Given the description of an element on the screen output the (x, y) to click on. 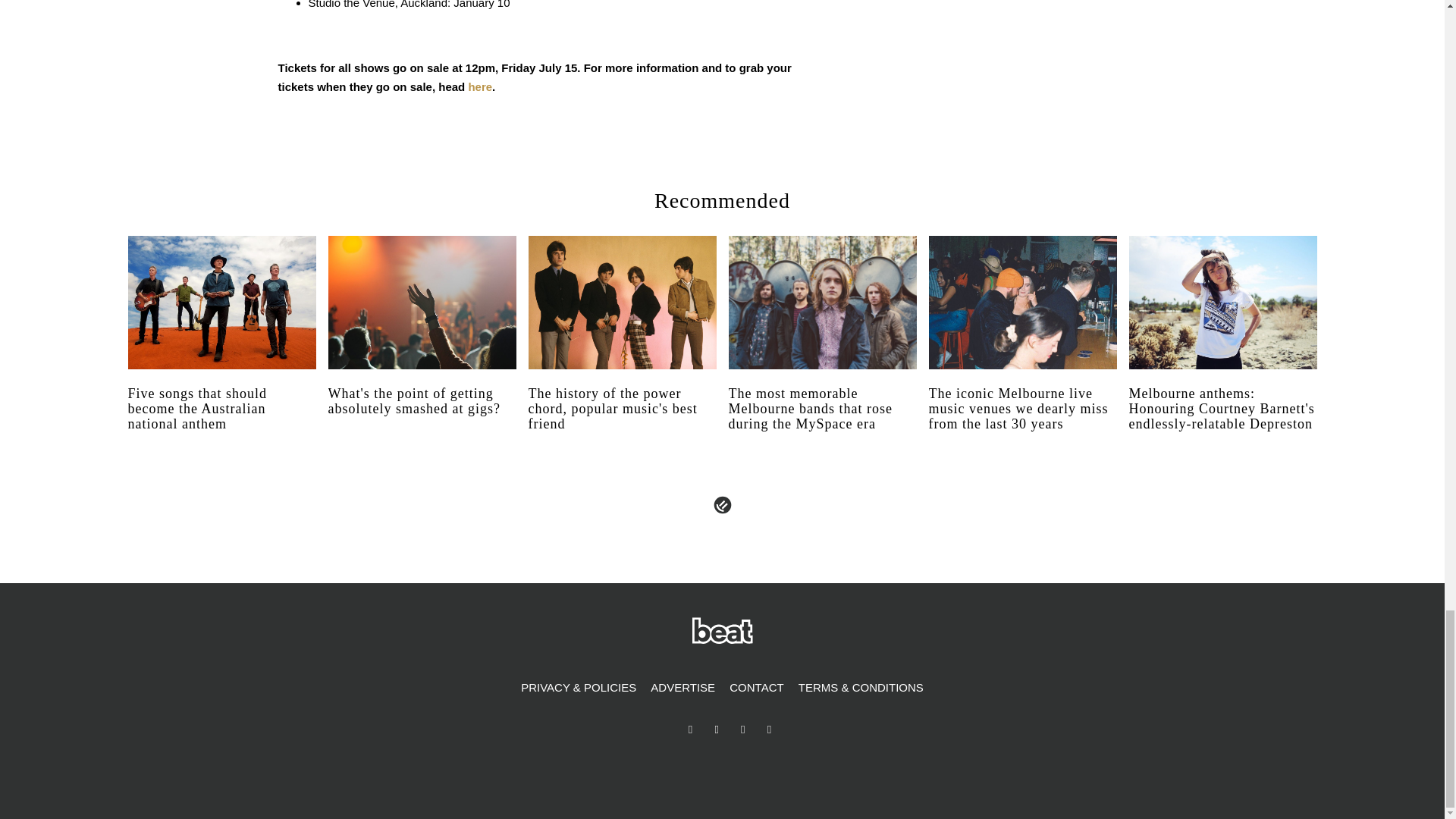
here (479, 86)
What's the point of getting absolutely smashed at gigs? (421, 415)
Five songs that should become the Australian national anthem (221, 422)
ADVERTISE (682, 687)
CONTACT (756, 687)
The history of the power chord, popular music's best friend (621, 422)
